Given the description of an element on the screen output the (x, y) to click on. 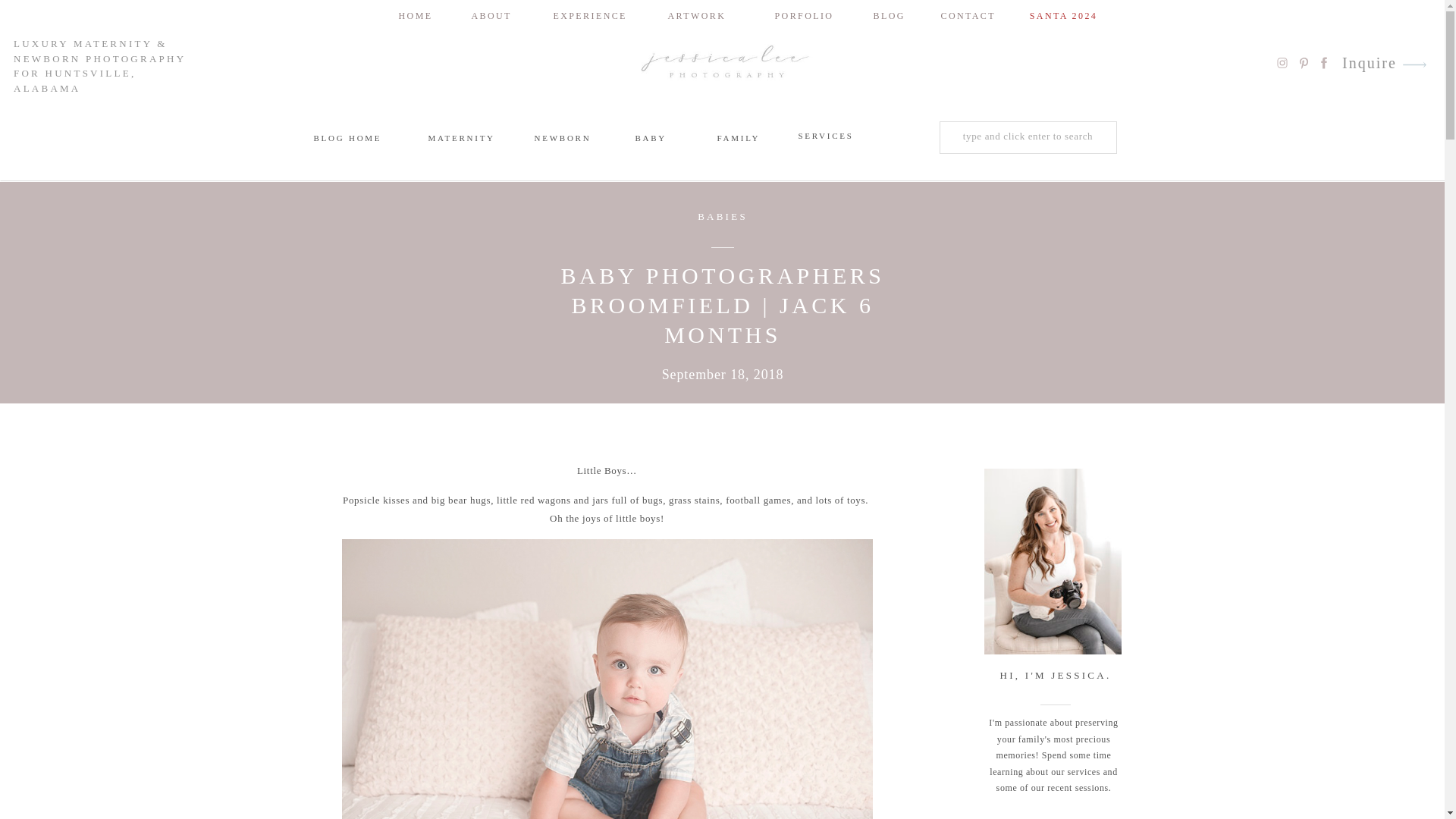
HOME (412, 15)
PORFOLIO (803, 15)
arrow (1414, 64)
EXPERIENCE (580, 15)
BLOG (887, 15)
ARTWORK (694, 15)
ABOUT (488, 15)
CONTACT (961, 15)
SANTA 2024 (1062, 15)
